Given the description of an element on the screen output the (x, y) to click on. 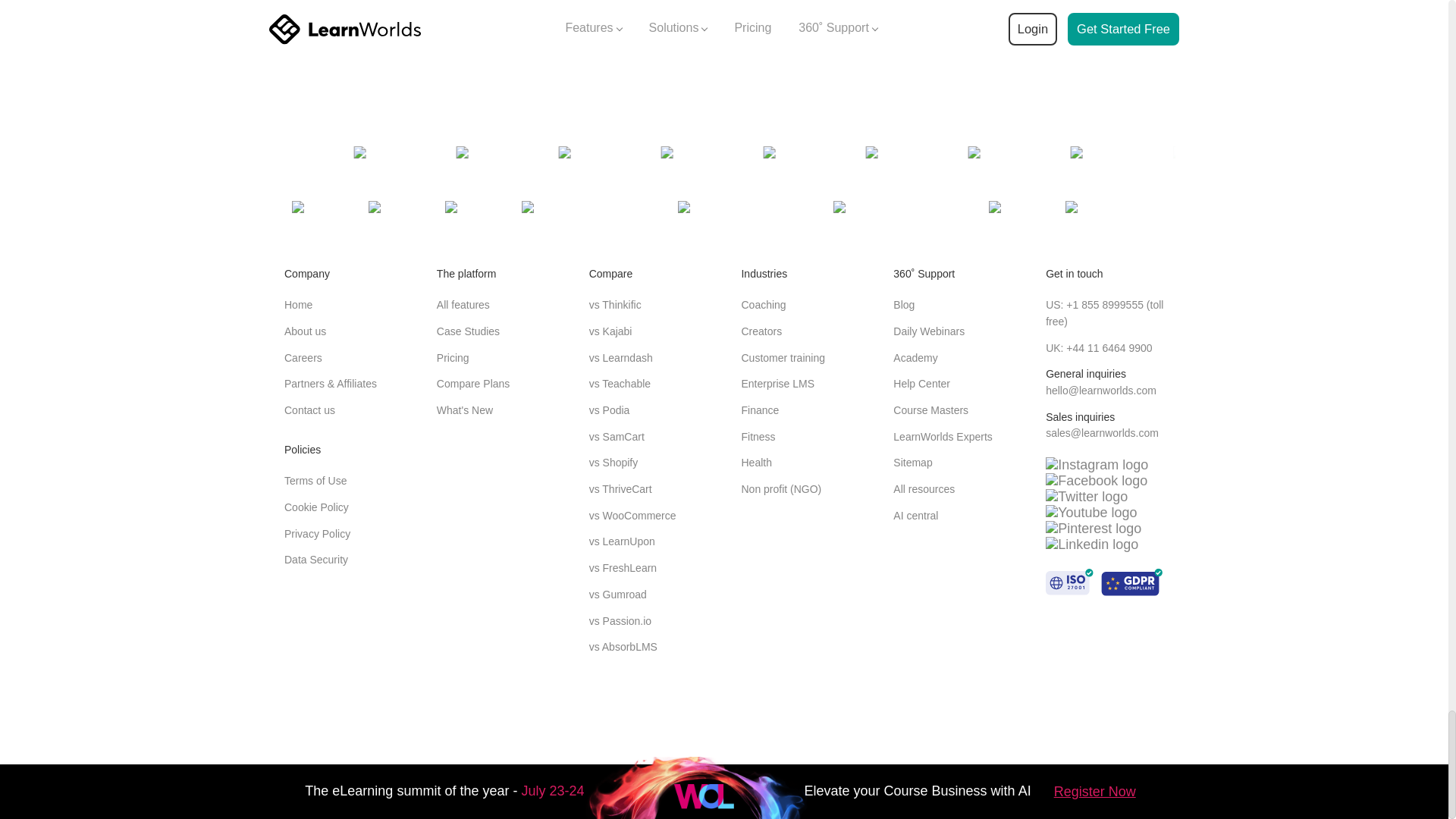
send email to LearnWorlds (1100, 390)
send email to LearnWorlds (1101, 432)
